Given the description of an element on the screen output the (x, y) to click on. 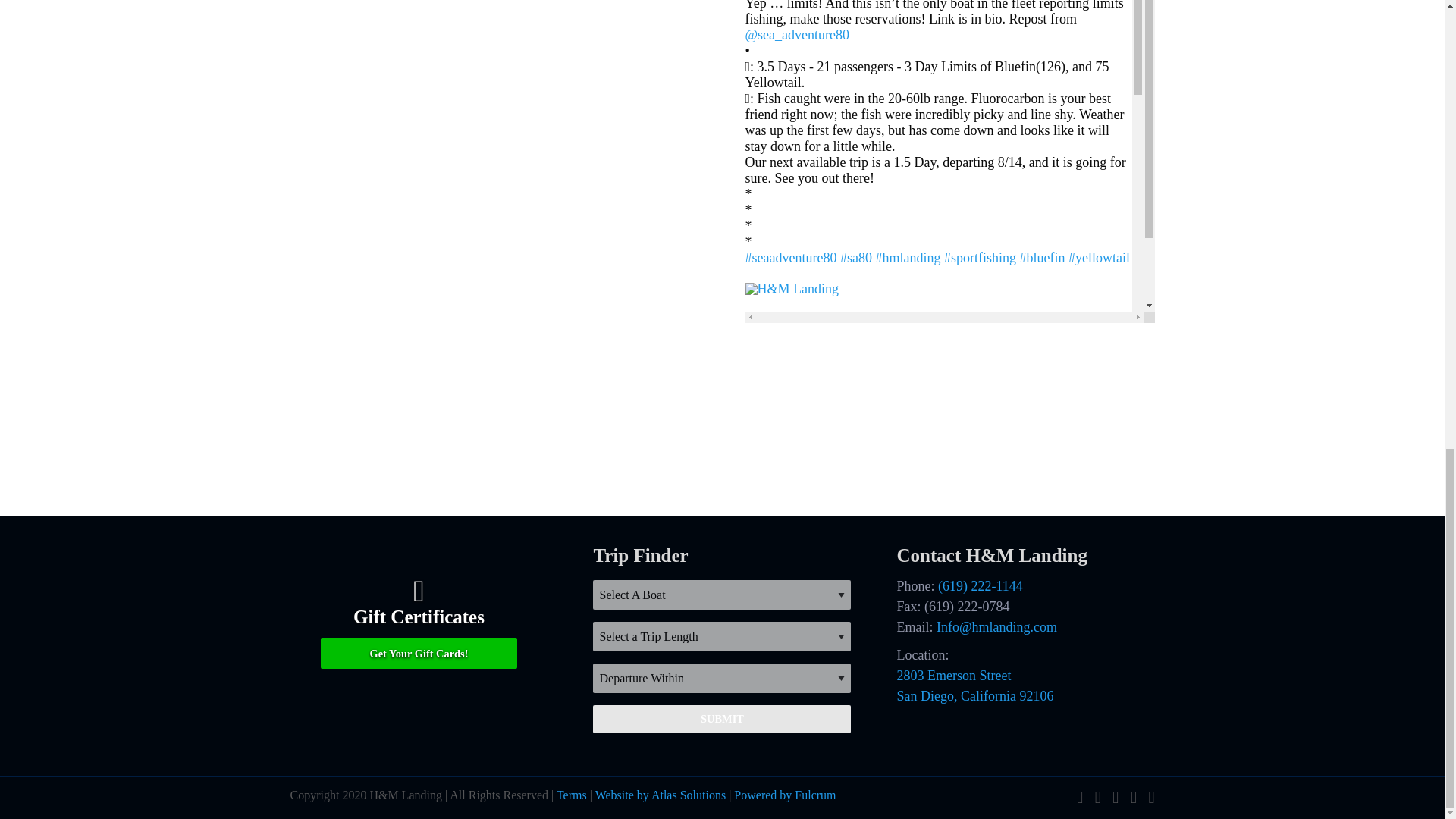
Submit (721, 718)
Social Share Options (749, 728)
Social Share Options (749, 339)
Social Share Options (749, 498)
